Given the description of an element on the screen output the (x, y) to click on. 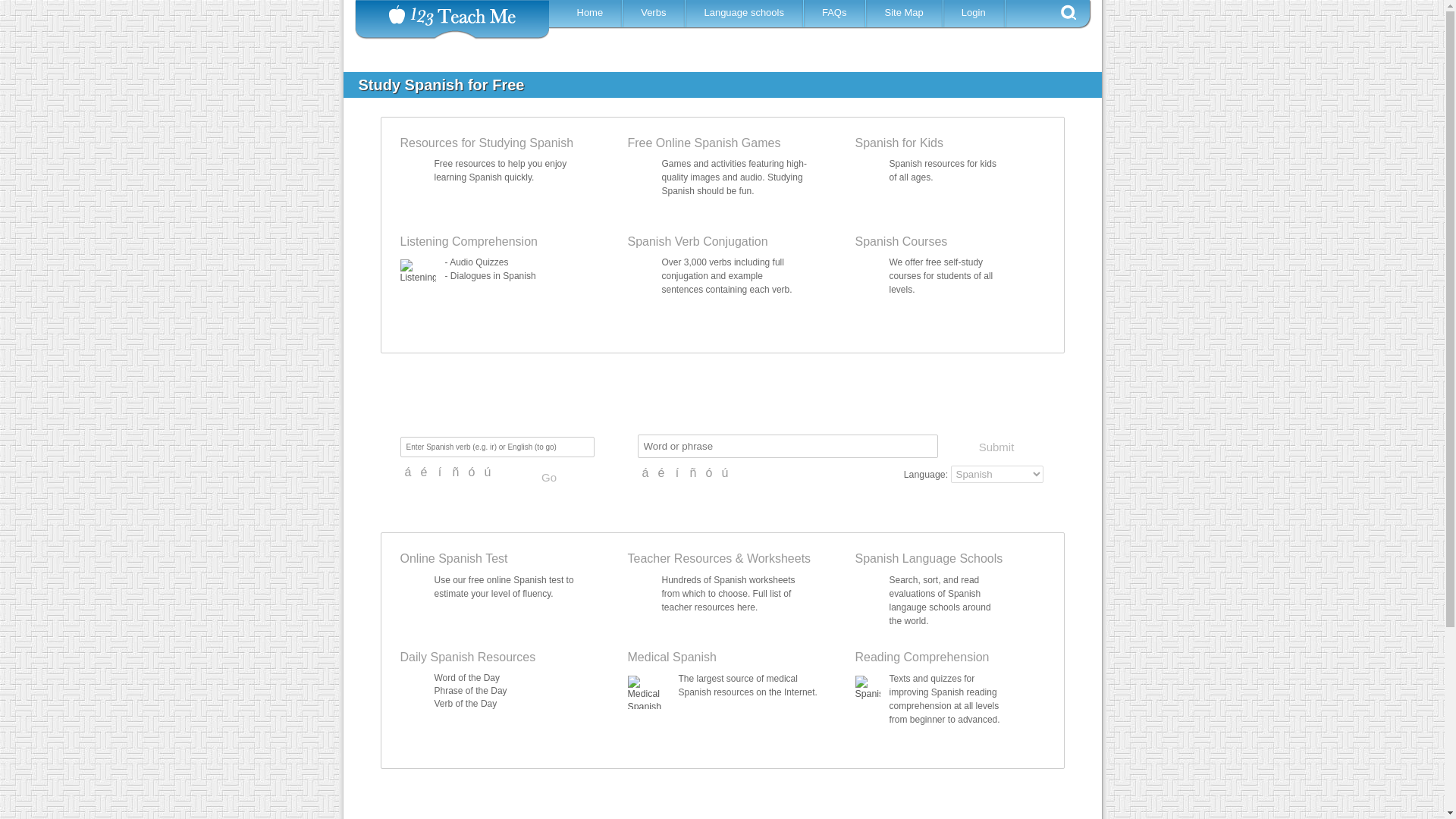
Learn Spanish Online (591, 12)
Spanish Teacher (679, 558)
Go (548, 477)
Online Spanish Worksheets (778, 558)
Spanish Language Schools (746, 12)
Free Spanish Lessons (486, 142)
Free Spanish Courses (901, 241)
Free Spanish Test (454, 558)
Submit (995, 447)
Spanish Listening Comprehension (478, 262)
Learn Spanish Online (655, 12)
Free Spanish for Kids (899, 142)
Spanish Verb Conjugation (697, 241)
Spanish Language Schools (929, 558)
Online Spanish Games (703, 142)
